Given the description of an element on the screen output the (x, y) to click on. 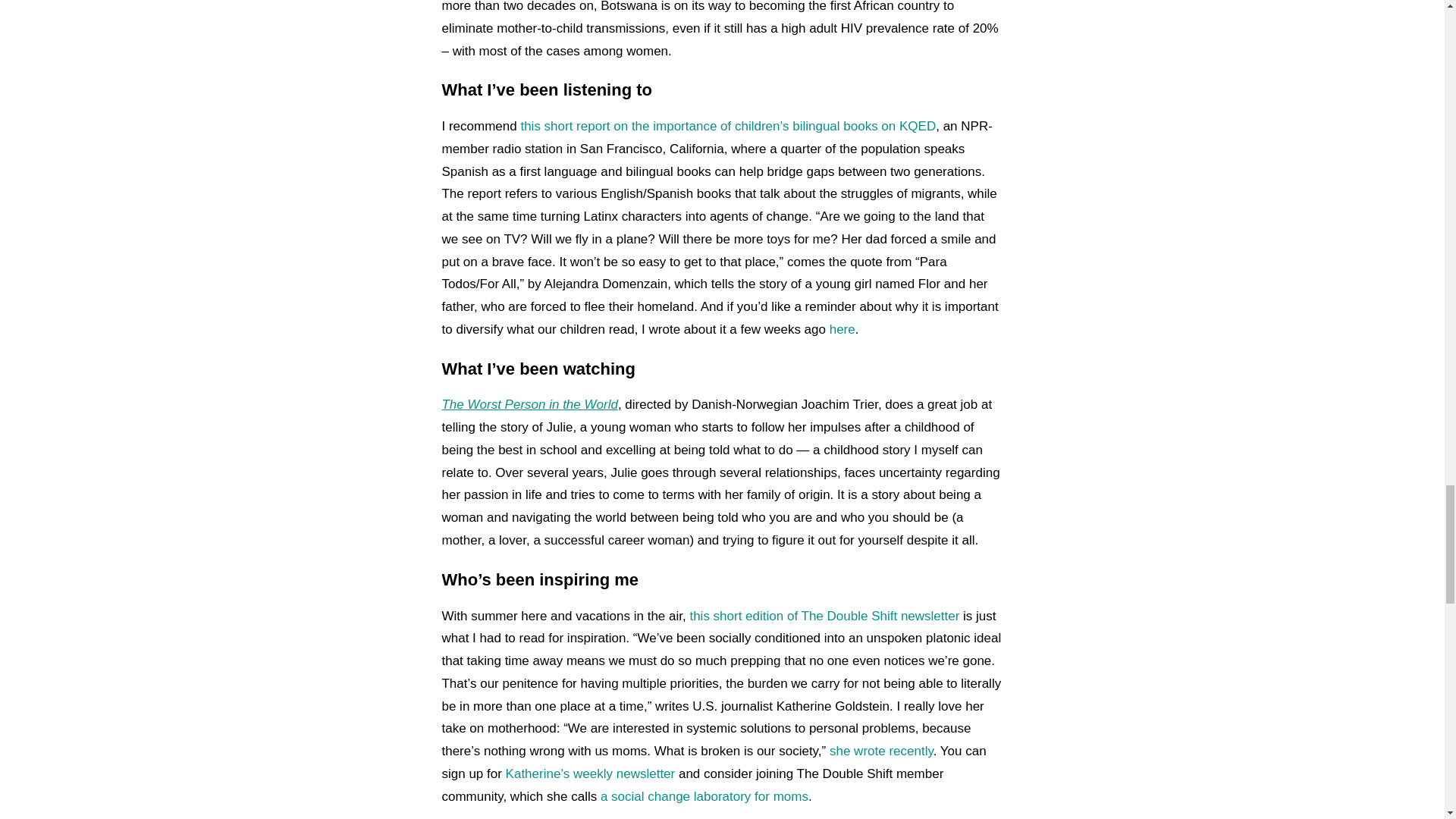
here (842, 329)
The Worst Person in the World (529, 404)
she wrote recently (881, 750)
a social change laboratory for moms (703, 796)
this short edition of The Double Shift newsletter (823, 616)
